Given the description of an element on the screen output the (x, y) to click on. 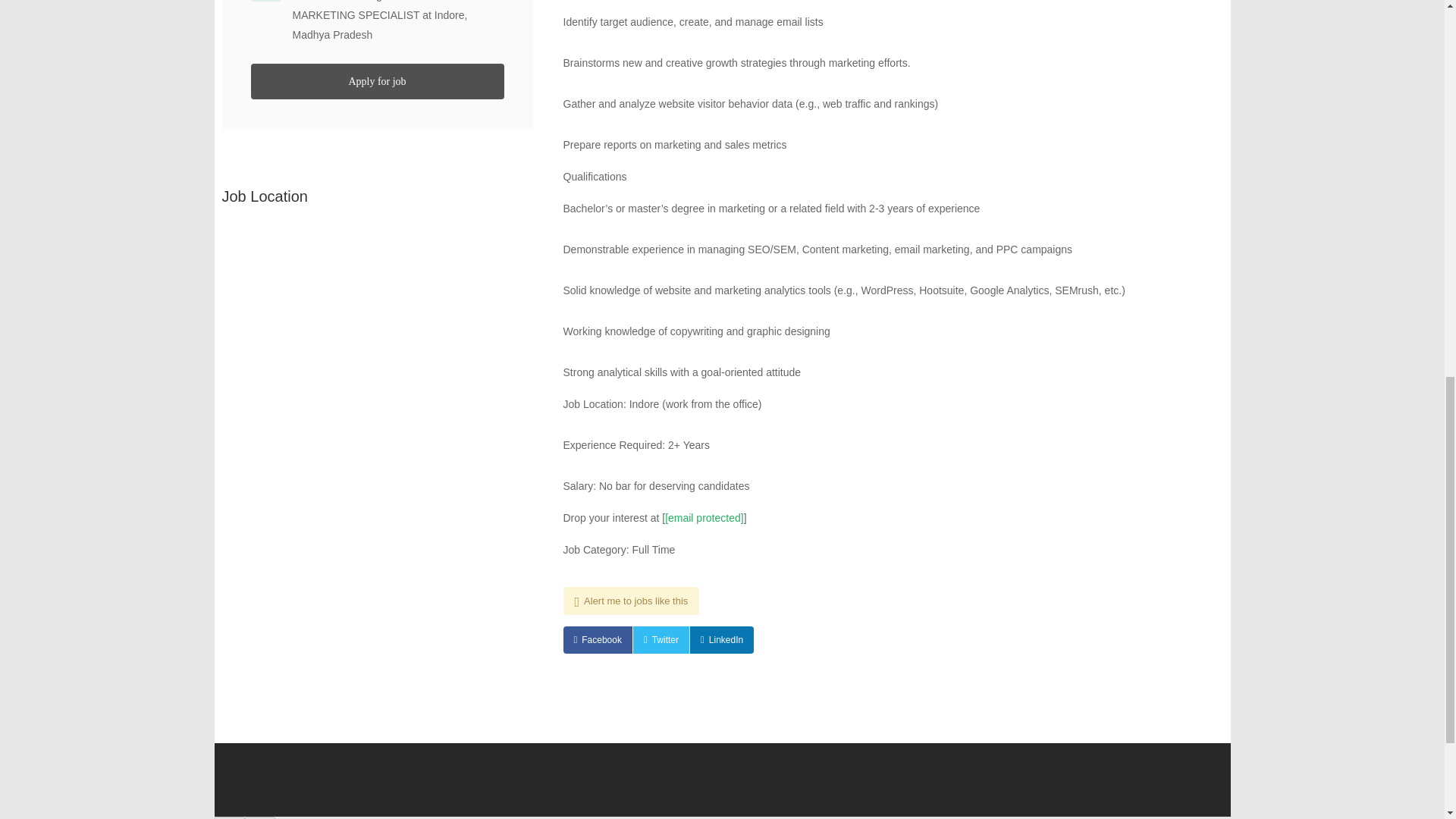
LinkedIn (722, 639)
Alert me to jobs like this (630, 601)
Facebook (596, 639)
Twitter (660, 639)
Twitter (660, 639)
